Given the description of an element on the screen output the (x, y) to click on. 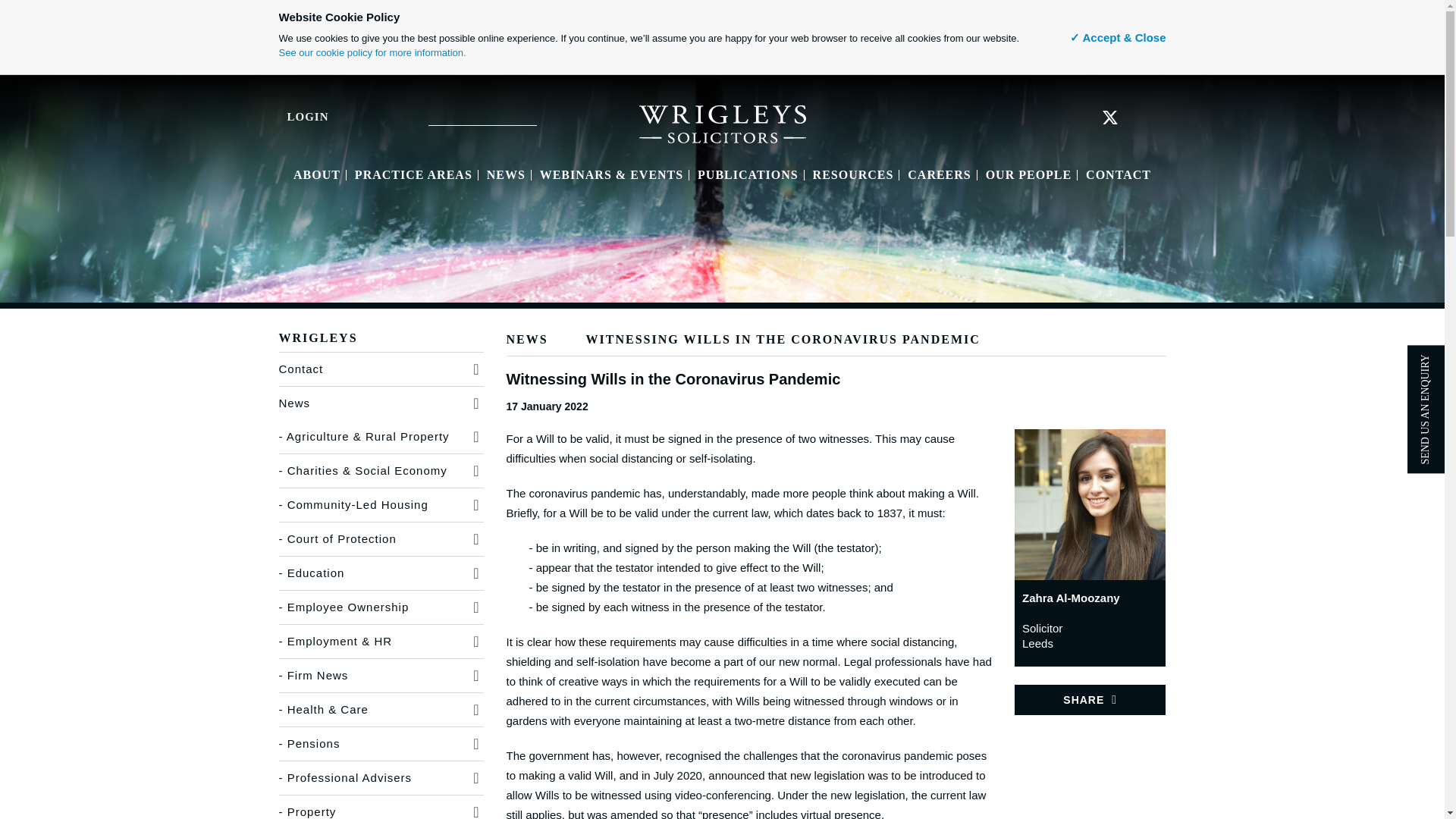
LOGIN (292, 115)
See our cookie policy for more information. (372, 52)
Zahra Al-Moozany (1090, 504)
Wrigleys Solicitors (722, 123)
PRACTICE AREAS (413, 174)
ABOUT (317, 174)
